Given the description of an element on the screen output the (x, y) to click on. 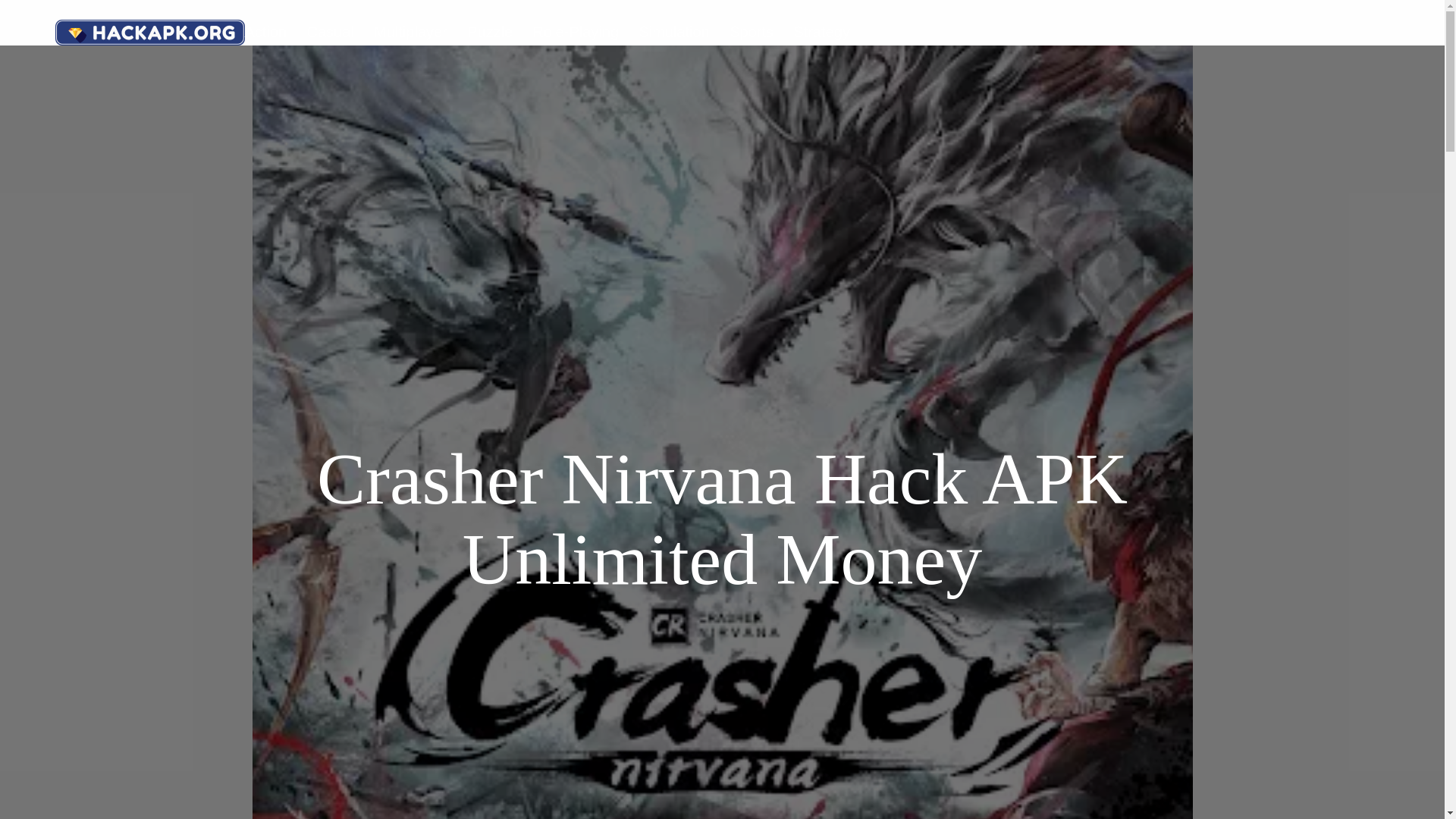
Puzzle (489, 31)
Action (265, 31)
Strategy (821, 31)
Simulation (673, 31)
Role-Playing (575, 31)
Multiplayer (410, 31)
Casual (330, 31)
Sports (751, 31)
